Given the description of an element on the screen output the (x, y) to click on. 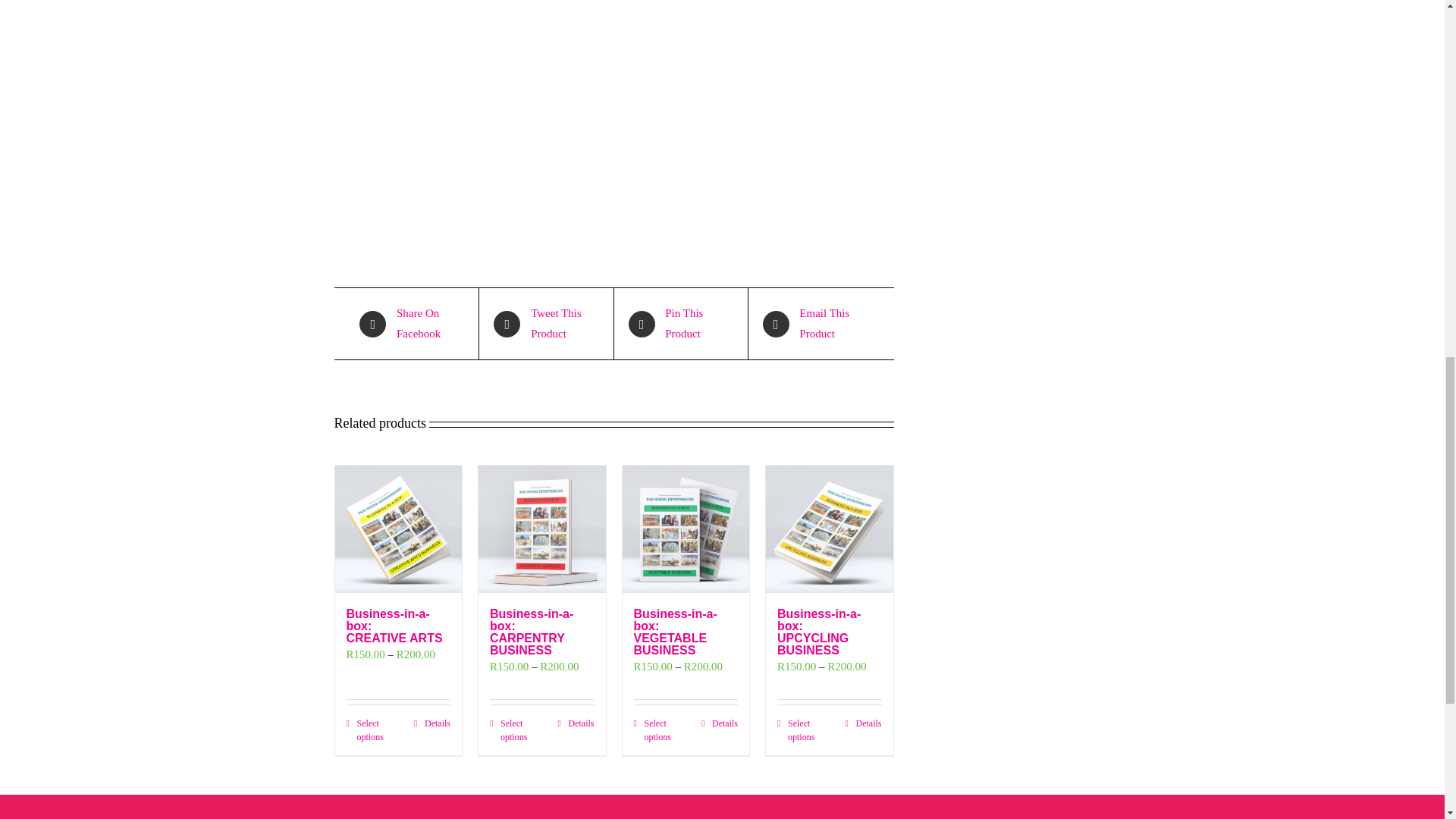
YouTube video player (576, 94)
